Given the description of an element on the screen output the (x, y) to click on. 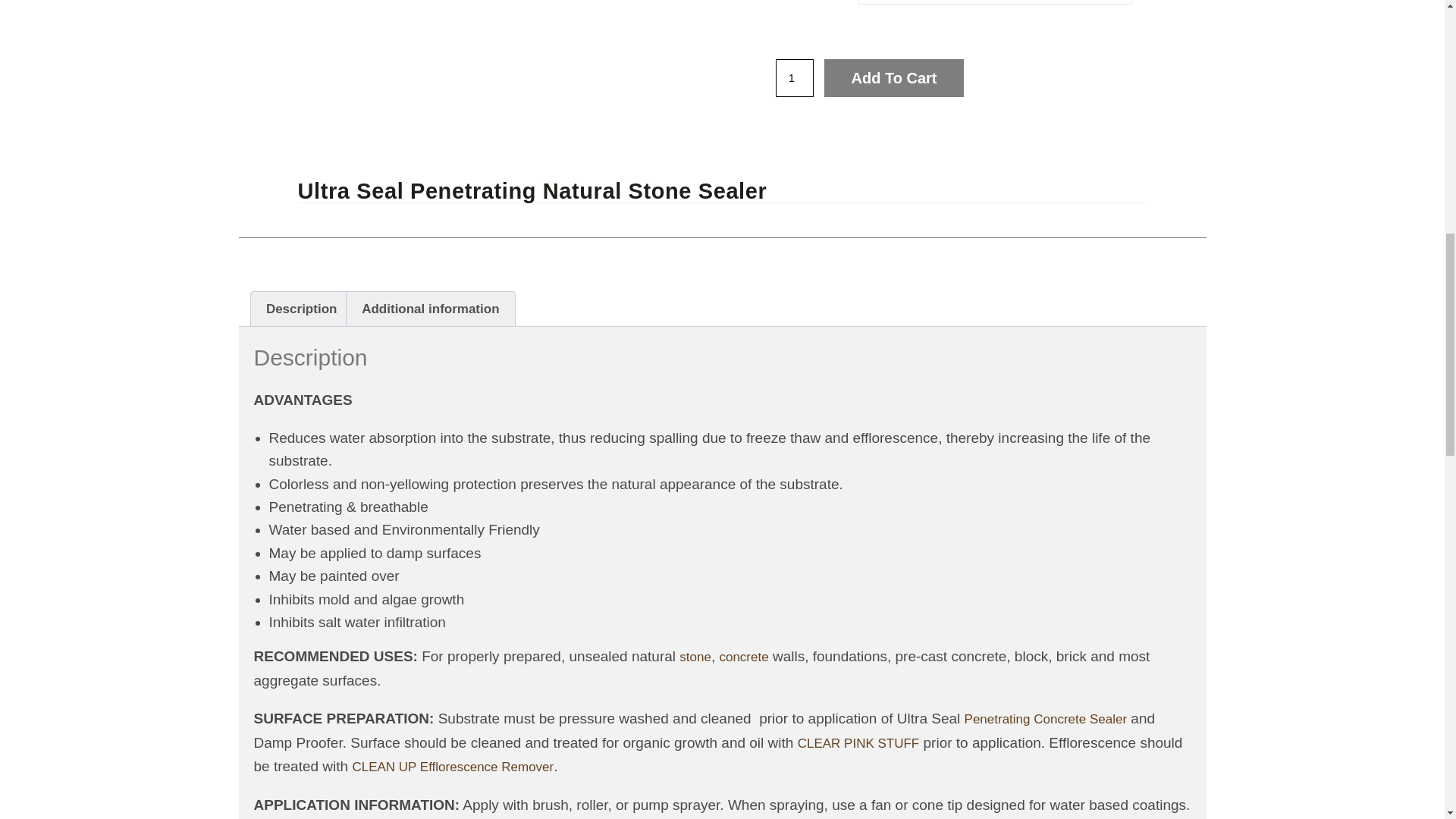
Posts tagged with penetrating concrete sealer (1044, 718)
Posts tagged with Concrete (743, 657)
Posts tagged with stone (695, 657)
1 (793, 77)
